Given the description of an element on the screen output the (x, y) to click on. 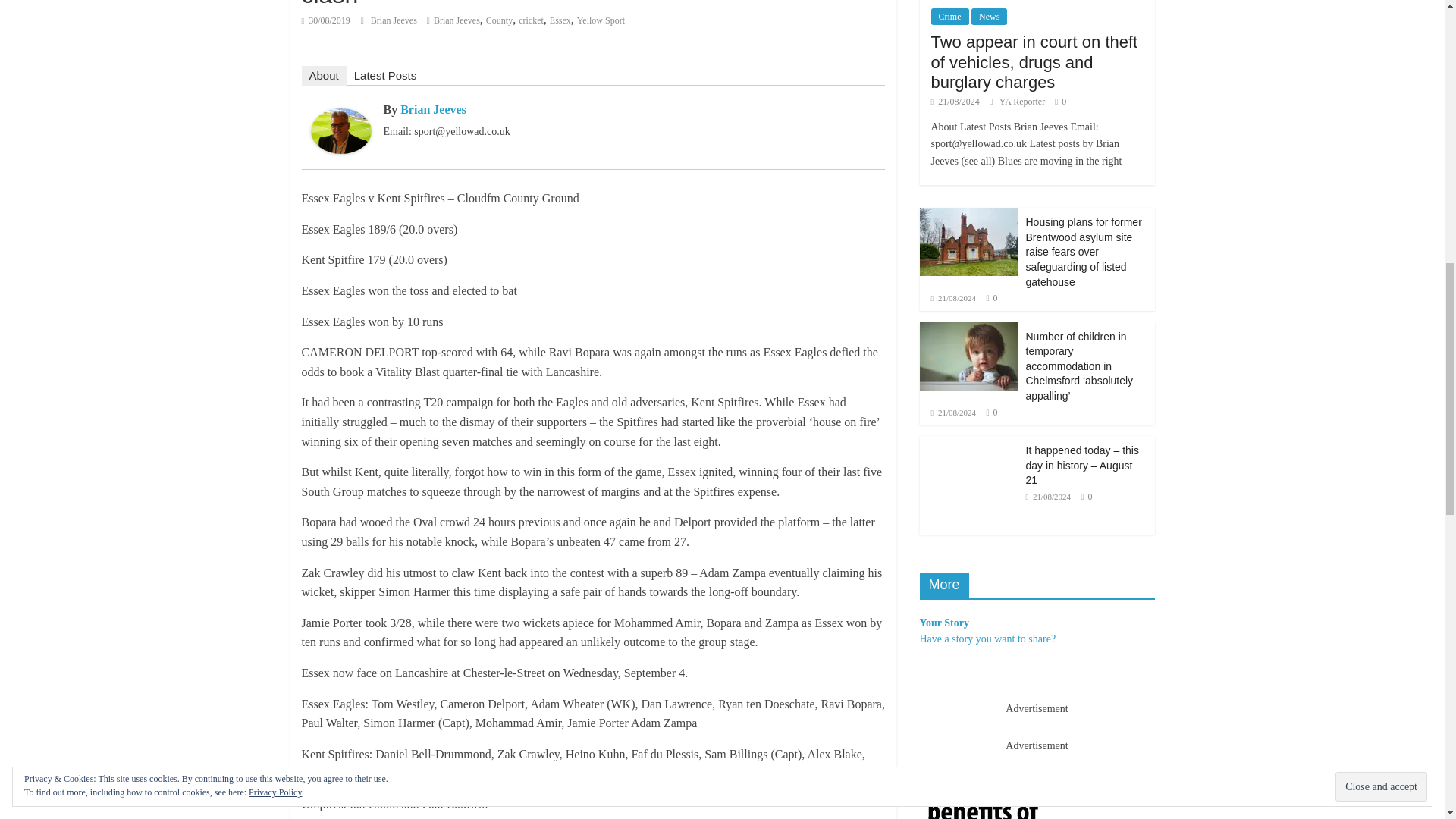
10:30 pm (325, 20)
Brian Jeeves (395, 20)
Brian Jeeves (341, 117)
